Given the description of an element on the screen output the (x, y) to click on. 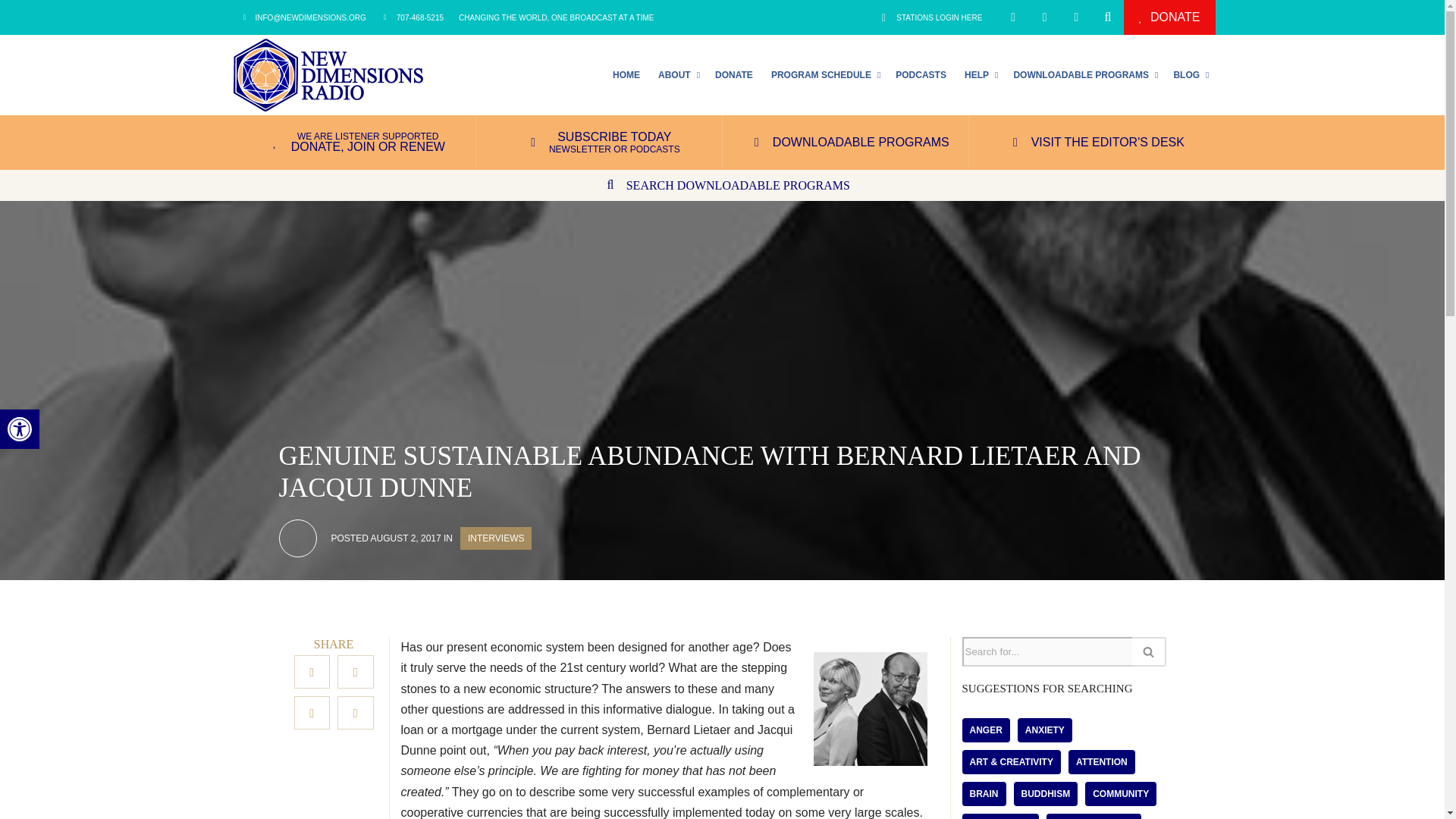
ABOUT (677, 74)
Share on linkedin-in (312, 712)
PODCASTS (920, 74)
HOME (626, 74)
Share on pinterest-p (355, 712)
BLOG (1188, 74)
Accessibility Tools (19, 428)
707-468-5215 (412, 17)
STATIONS LOGIN HERE (929, 16)
Accessibility Tools (19, 428)
